Given the description of an element on the screen output the (x, y) to click on. 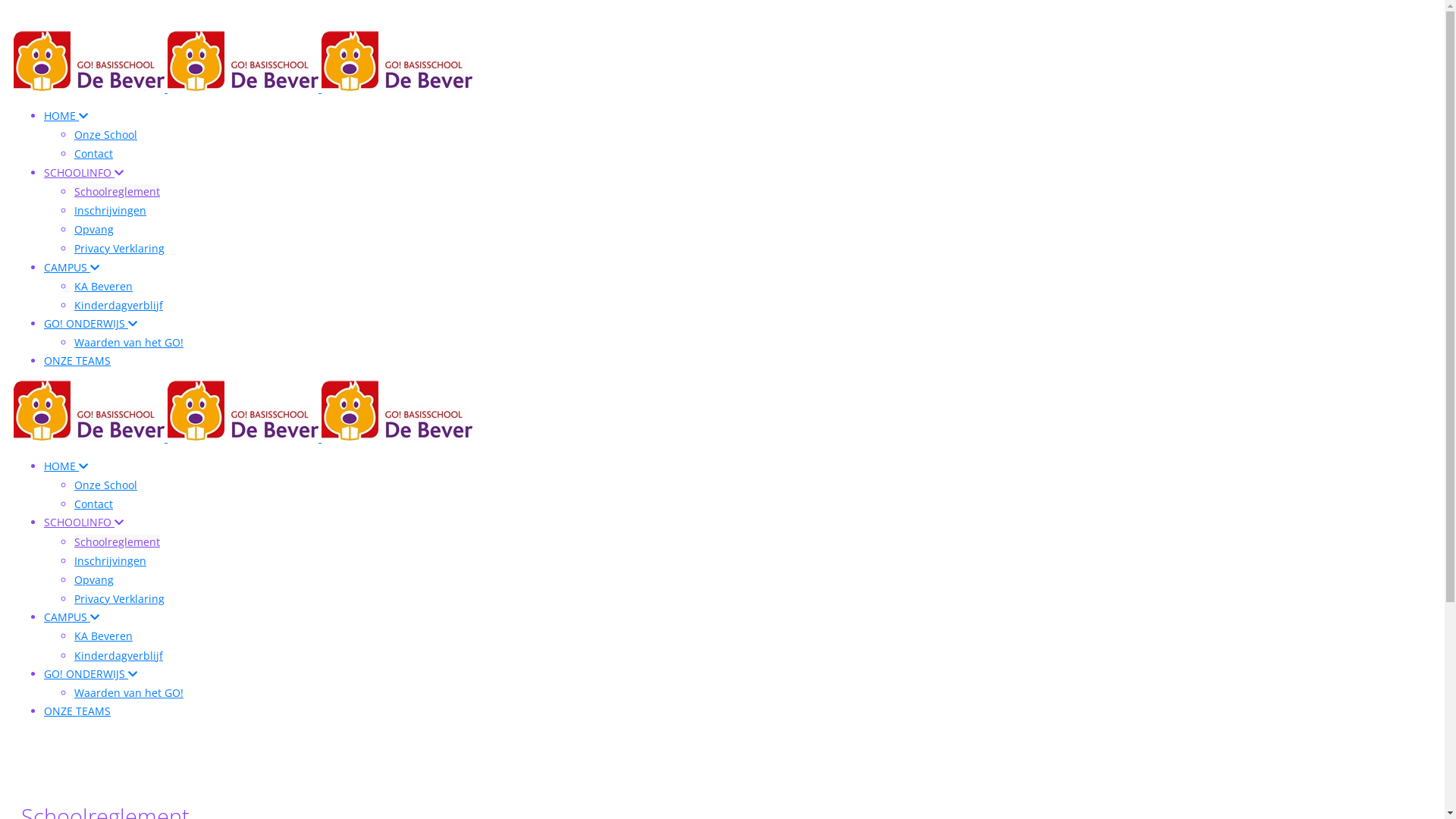
Inschrijvingen Element type: text (110, 210)
ONZE TEAMS Element type: text (76, 360)
Inschrijvingen Element type: text (110, 560)
ONZE TEAMS Element type: text (76, 710)
HOME Element type: text (65, 465)
GO! ONDERWIJS Element type: text (90, 673)
Onze School Element type: text (105, 484)
Kinderdagverblijf Element type: text (118, 305)
Opvang Element type: text (93, 229)
Schoolreglement Element type: text (117, 540)
Contact Element type: text (93, 153)
Waarden van het GO! Element type: text (128, 692)
CAMPUS Element type: text (71, 266)
Schoolreglement Element type: text (117, 191)
Back to Top Element type: hover (20, 14)
KA Beveren Element type: text (103, 635)
Onze School Element type: text (105, 134)
Kinderdagverblijf Element type: text (118, 655)
Privacy Verklaring Element type: text (119, 248)
Privacy Verklaring Element type: text (119, 598)
Waarden van het GO! Element type: text (128, 342)
HOME Element type: text (65, 115)
SCHOOLINFO Element type: text (83, 172)
CAMPUS Element type: text (71, 616)
GO! ONDERWIJS Element type: text (90, 323)
Contact Element type: text (93, 503)
SCHOOLINFO Element type: text (83, 521)
Opvang Element type: text (93, 579)
KA Beveren Element type: text (103, 286)
